Given the description of an element on the screen output the (x, y) to click on. 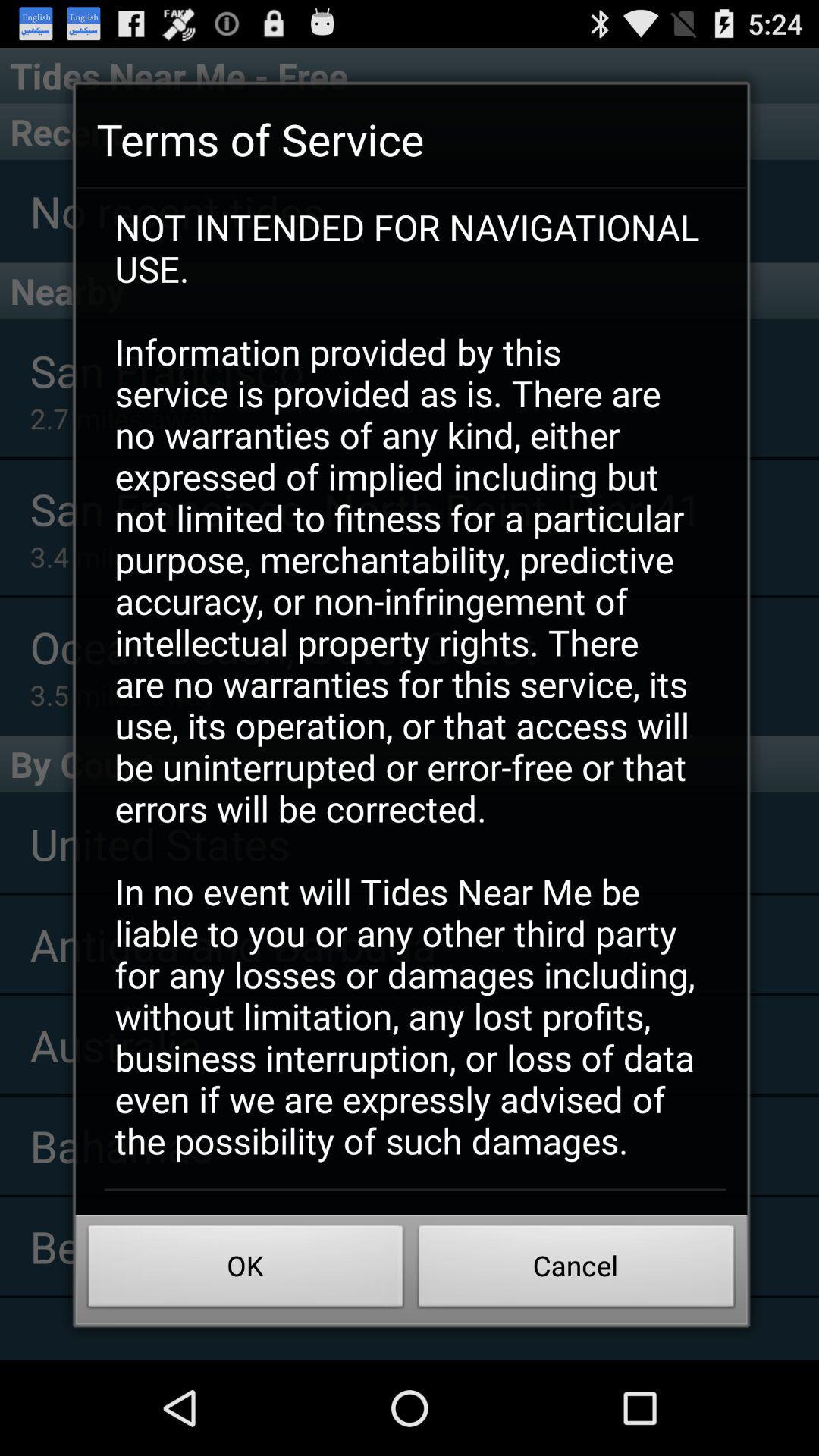
launch the item at the bottom right corner (576, 1270)
